Given the description of an element on the screen output the (x, y) to click on. 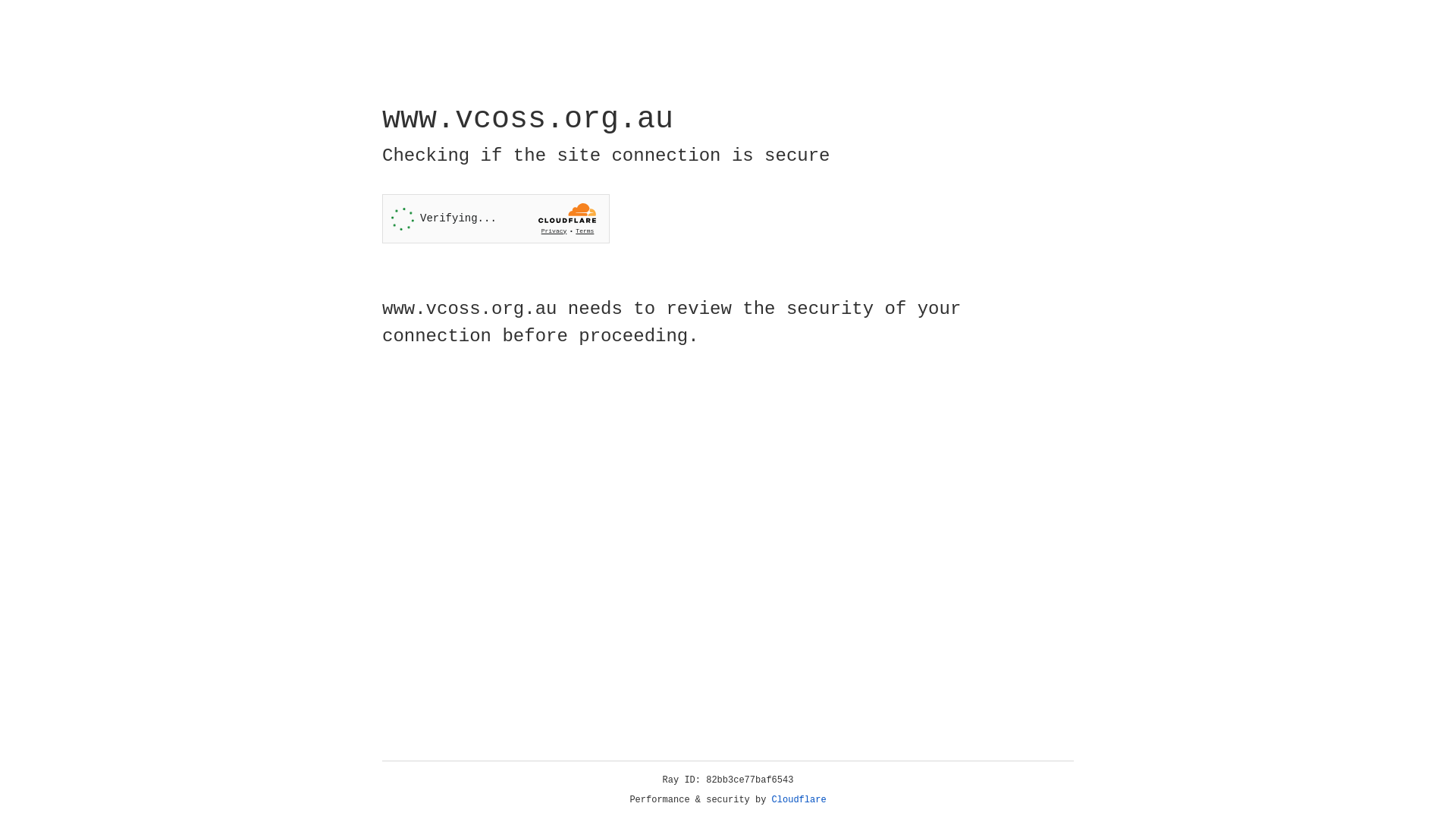
Cloudflare Element type: text (798, 799)
Widget containing a Cloudflare security challenge Element type: hover (495, 218)
